Given the description of an element on the screen output the (x, y) to click on. 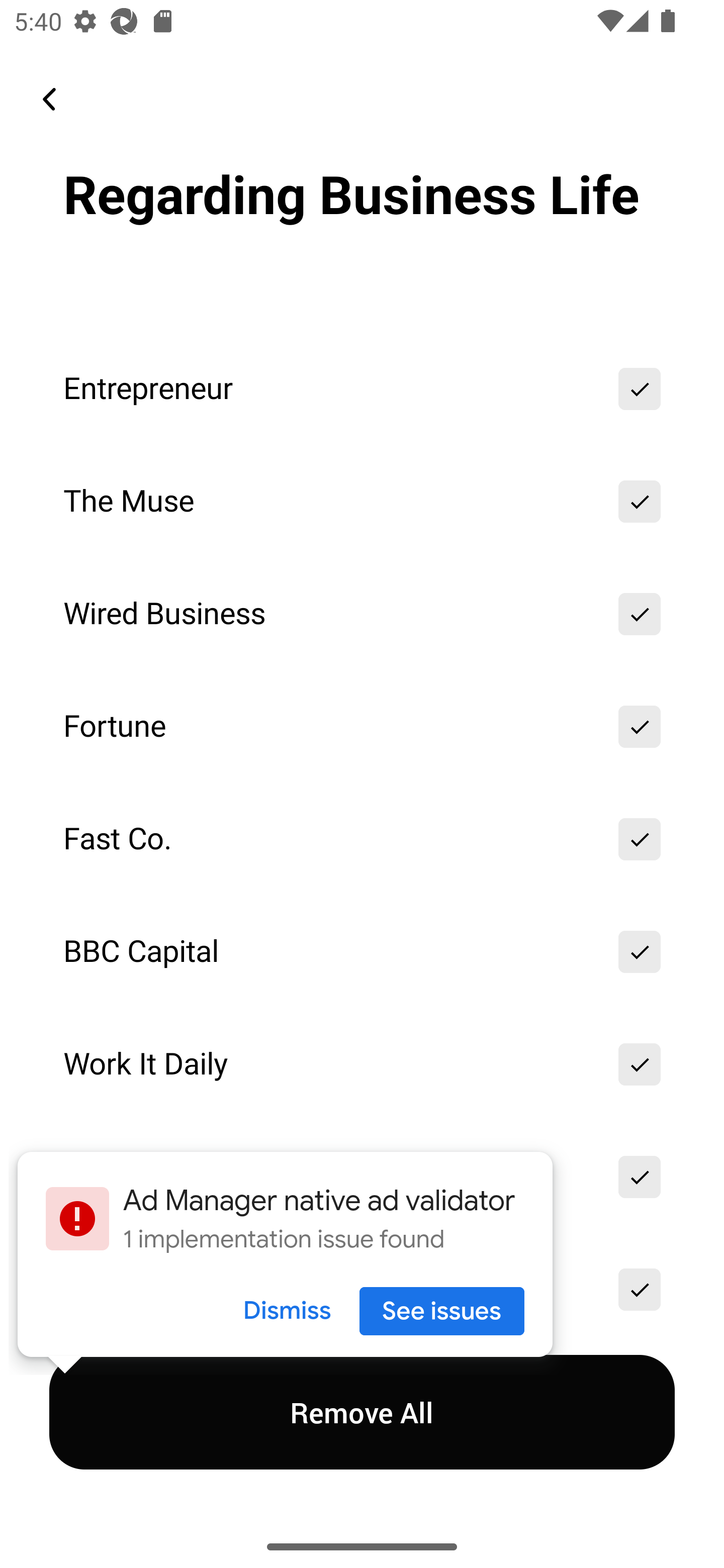
Leading Icon (49, 98)
Entrepreneur Add To My Bundle (361, 388)
Add To My Bundle (639, 388)
The Muse Add To My Bundle (361, 501)
Add To My Bundle (639, 501)
Wired Business Add To My Bundle (361, 614)
Add To My Bundle (639, 614)
Fortune Add To My Bundle (361, 726)
Add To My Bundle (639, 726)
Fast Co. Add To My Bundle (361, 838)
Add To My Bundle (639, 838)
BBC Capital Add To My Bundle (361, 951)
Add To My Bundle (639, 951)
Work It Daily Add To My Bundle (361, 1064)
Add To My Bundle (639, 1064)
Add To My Bundle (639, 1177)
Add To My Bundle (639, 1289)
Remove All (361, 1411)
